Given the description of an element on the screen output the (x, y) to click on. 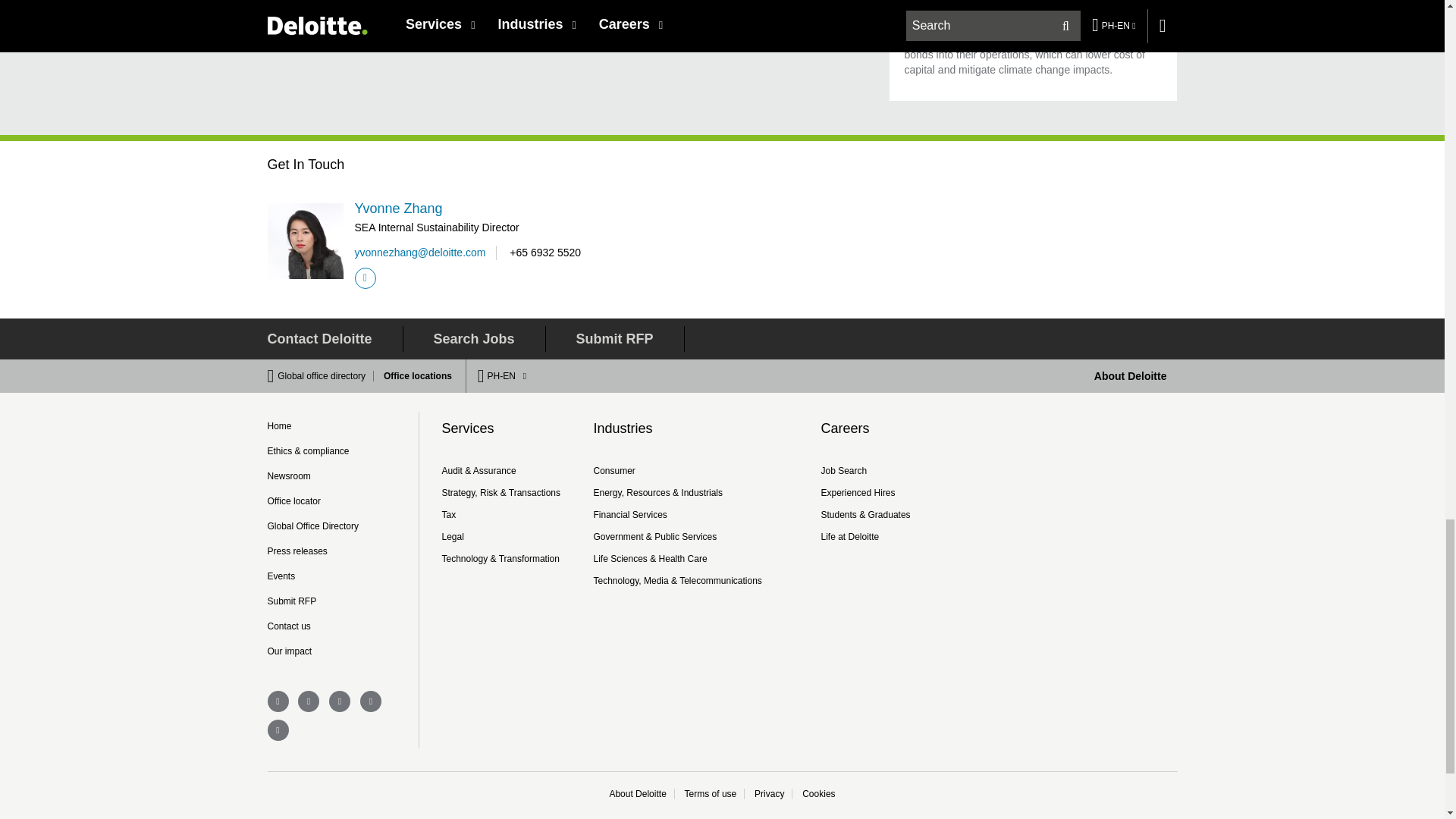
twitter (370, 701)
LinkedIn (365, 278)
facebook (277, 701)
About Deloitte (1130, 376)
instagram (339, 701)
youtube (277, 730)
Office locations (413, 376)
Global office directory (326, 376)
linkedin (308, 701)
